Given the description of an element on the screen output the (x, y) to click on. 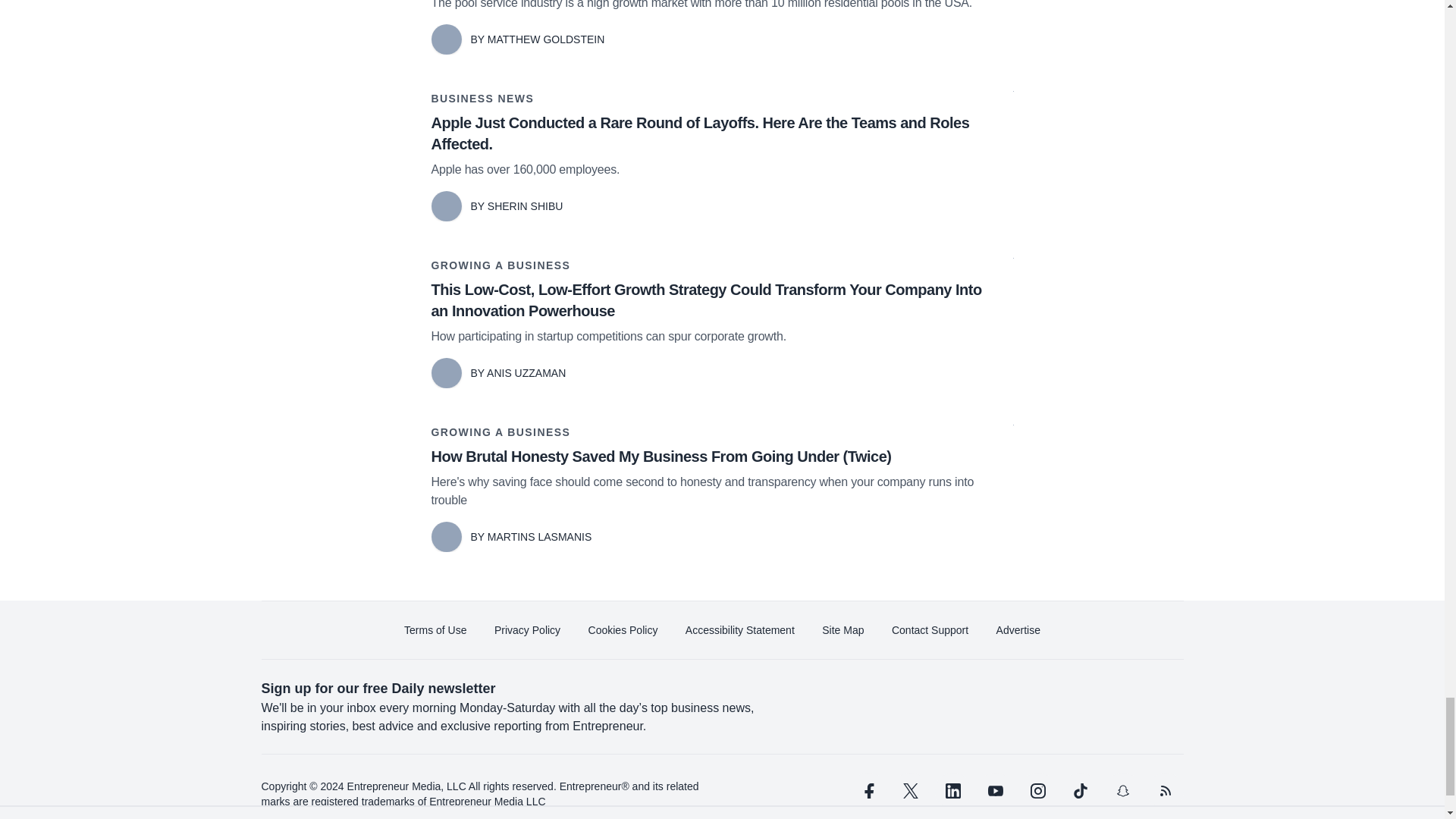
linkedin (952, 791)
instagram (1037, 791)
tiktok (1079, 791)
twitter (909, 791)
facebook (866, 791)
snapchat (1121, 791)
youtube (994, 791)
